Given the description of an element on the screen output the (x, y) to click on. 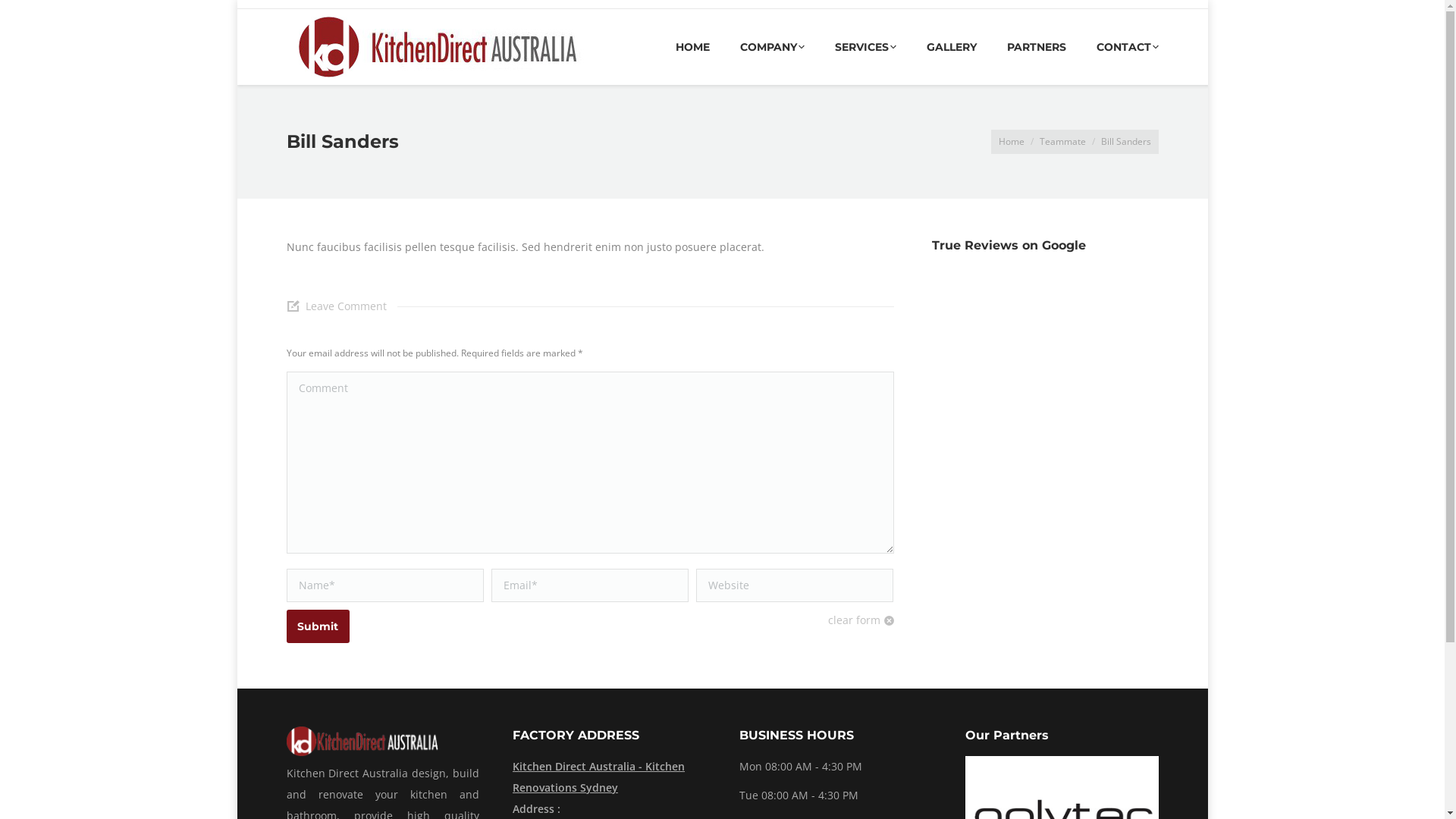
Kitchen Direct Australia - Kitchen Renovations Sydney Element type: text (609, 777)
Teammate Element type: text (1061, 140)
clear form Element type: text (861, 619)
SERVICES Element type: text (864, 46)
Submit Element type: text (317, 626)
PARTNERS Element type: text (1036, 46)
Home Element type: text (1010, 140)
Post Comment Element type: text (52, 16)
COMPANY Element type: text (772, 46)
GALLERY Element type: text (951, 46)
CONTACT Element type: text (1127, 46)
HOME Element type: text (691, 46)
